Given the description of an element on the screen output the (x, y) to click on. 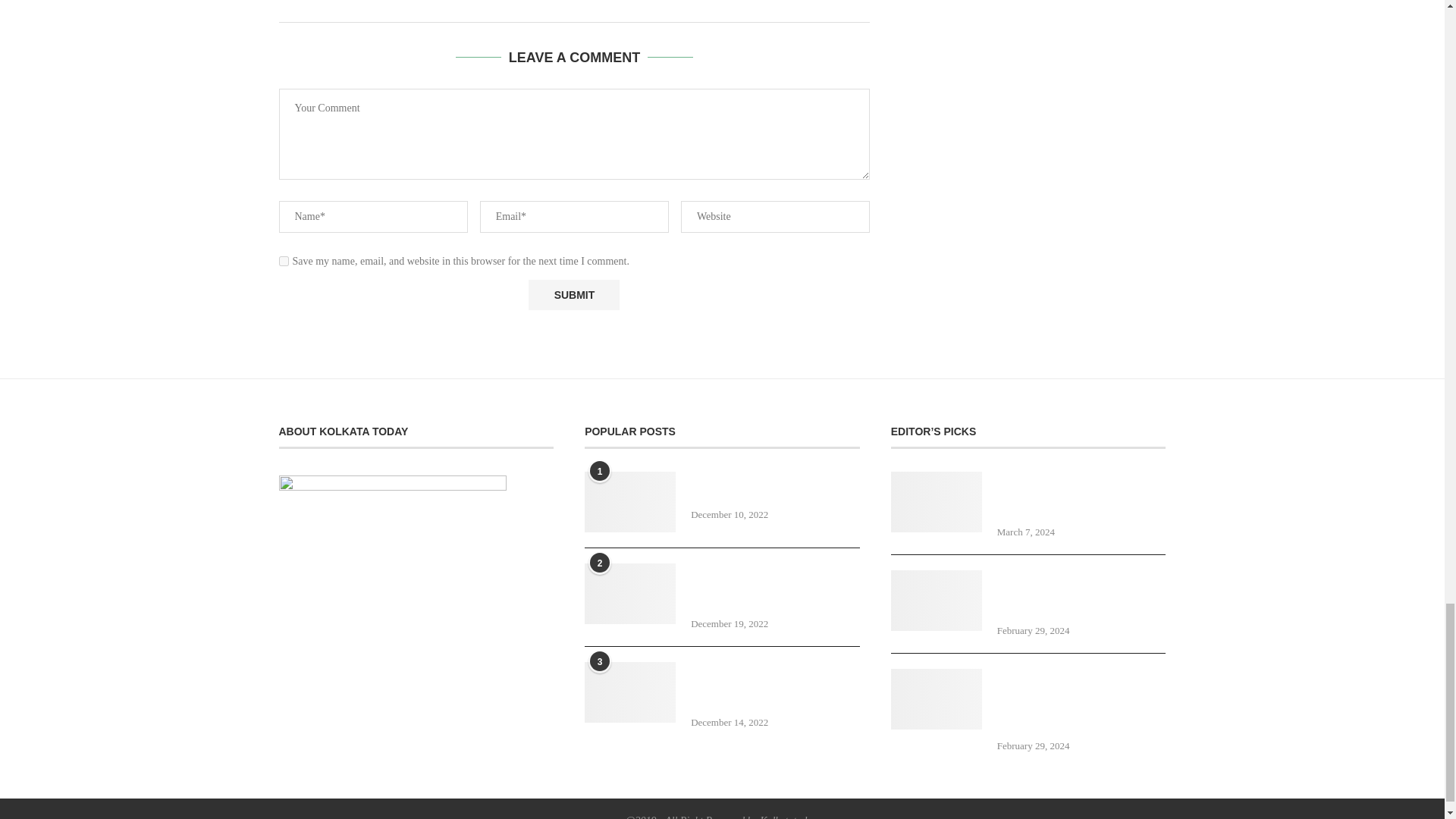
Submit (574, 295)
yes (283, 261)
